Given the description of an element on the screen output the (x, y) to click on. 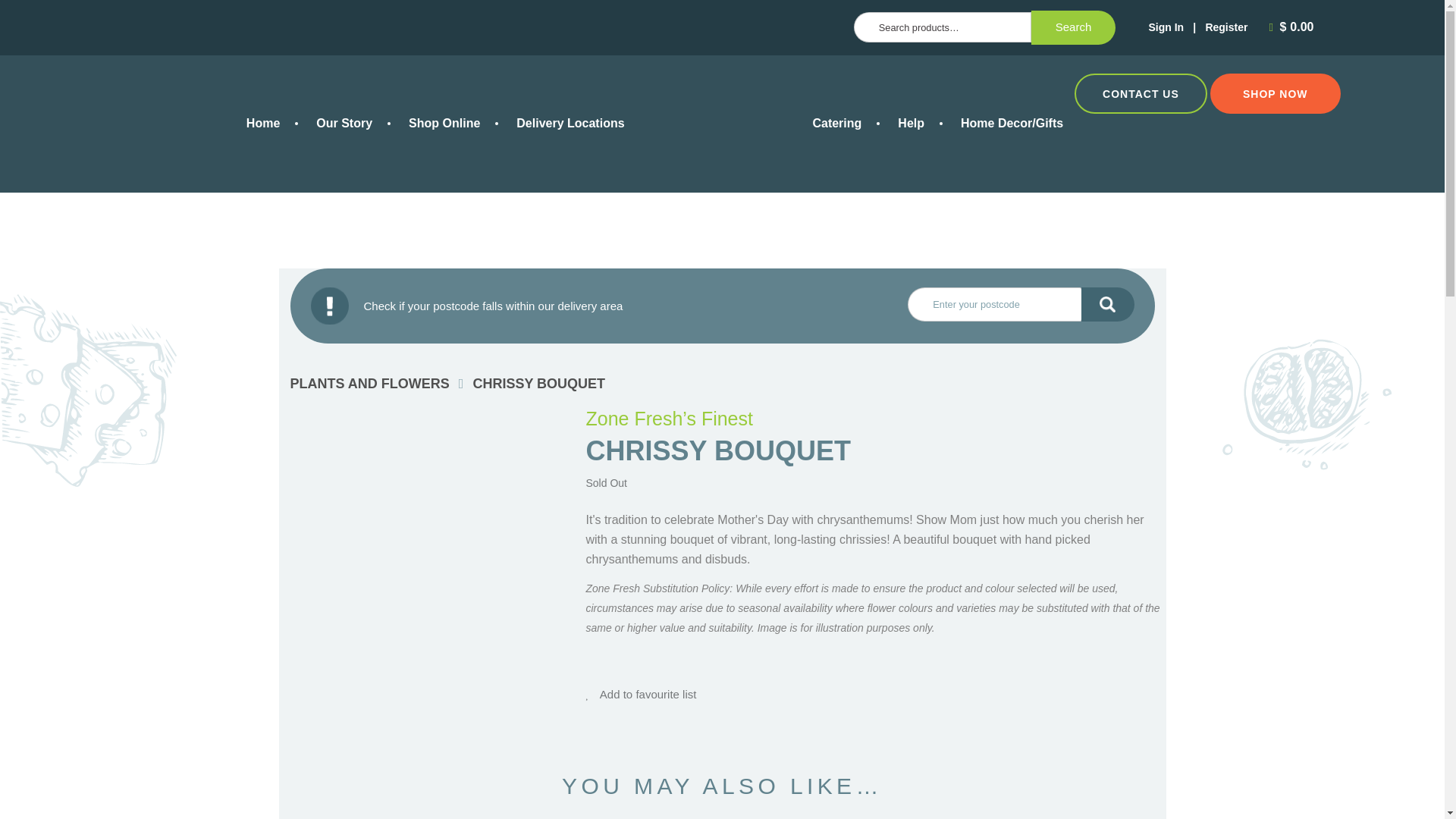
Sign In (1165, 27)
Our Story (344, 123)
Register (1226, 27)
Help (910, 123)
PLANTS AND FLOWERS (368, 383)
Search (1073, 27)
Catering (836, 123)
CONTACT US (1140, 92)
SHOP NOW (1274, 92)
Shop Online (443, 123)
